Given the description of an element on the screen output the (x, y) to click on. 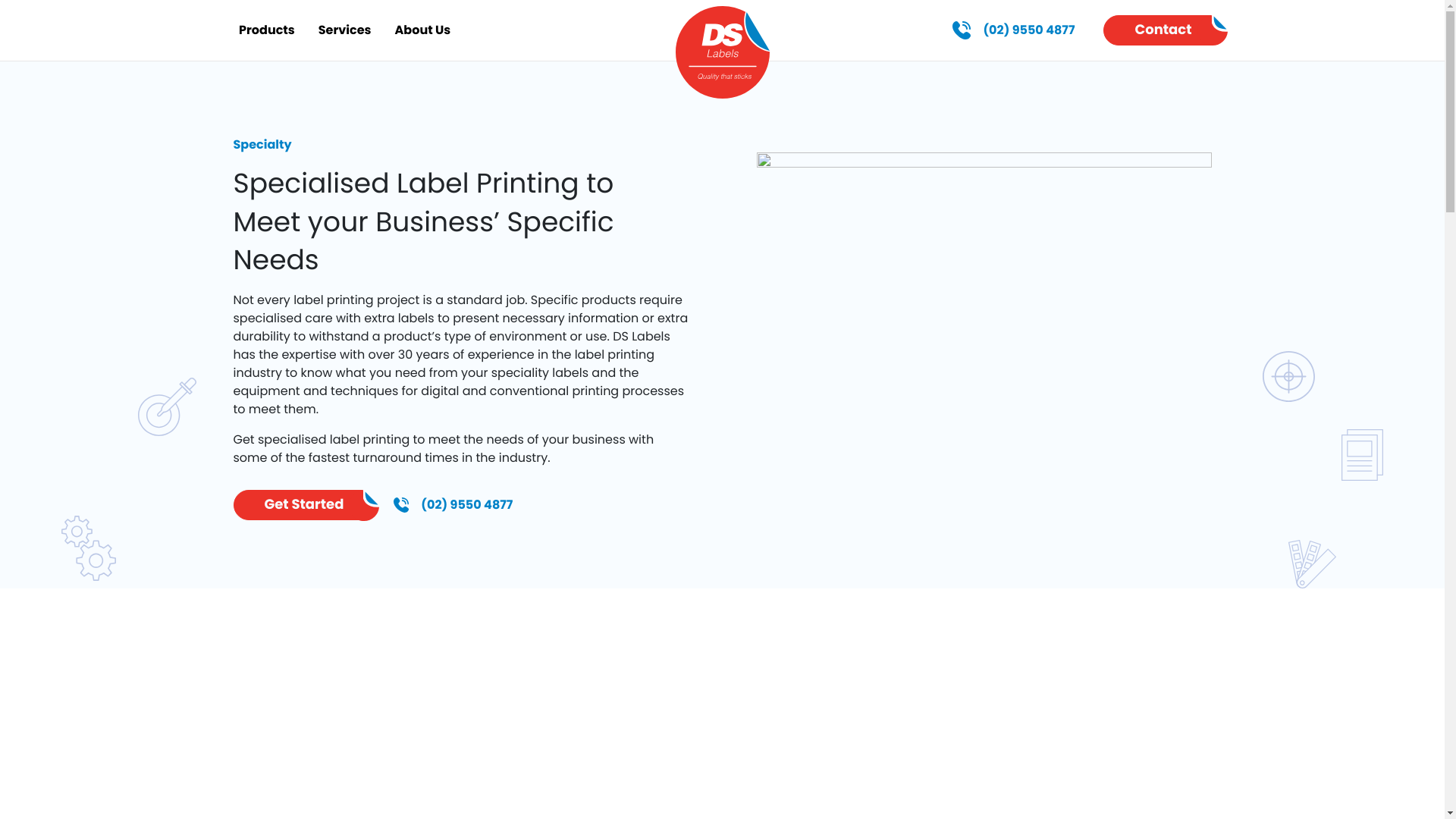
(02) 9550 4877 Element type: text (452, 504)
Services Element type: text (344, 30)
Contact Element type: text (1157, 30)
About Us Element type: text (422, 30)
Products Element type: text (267, 30)
(02) 9550 4877 Element type: text (1013, 30)
Get Started Element type: text (298, 504)
